Given the description of an element on the screen output the (x, y) to click on. 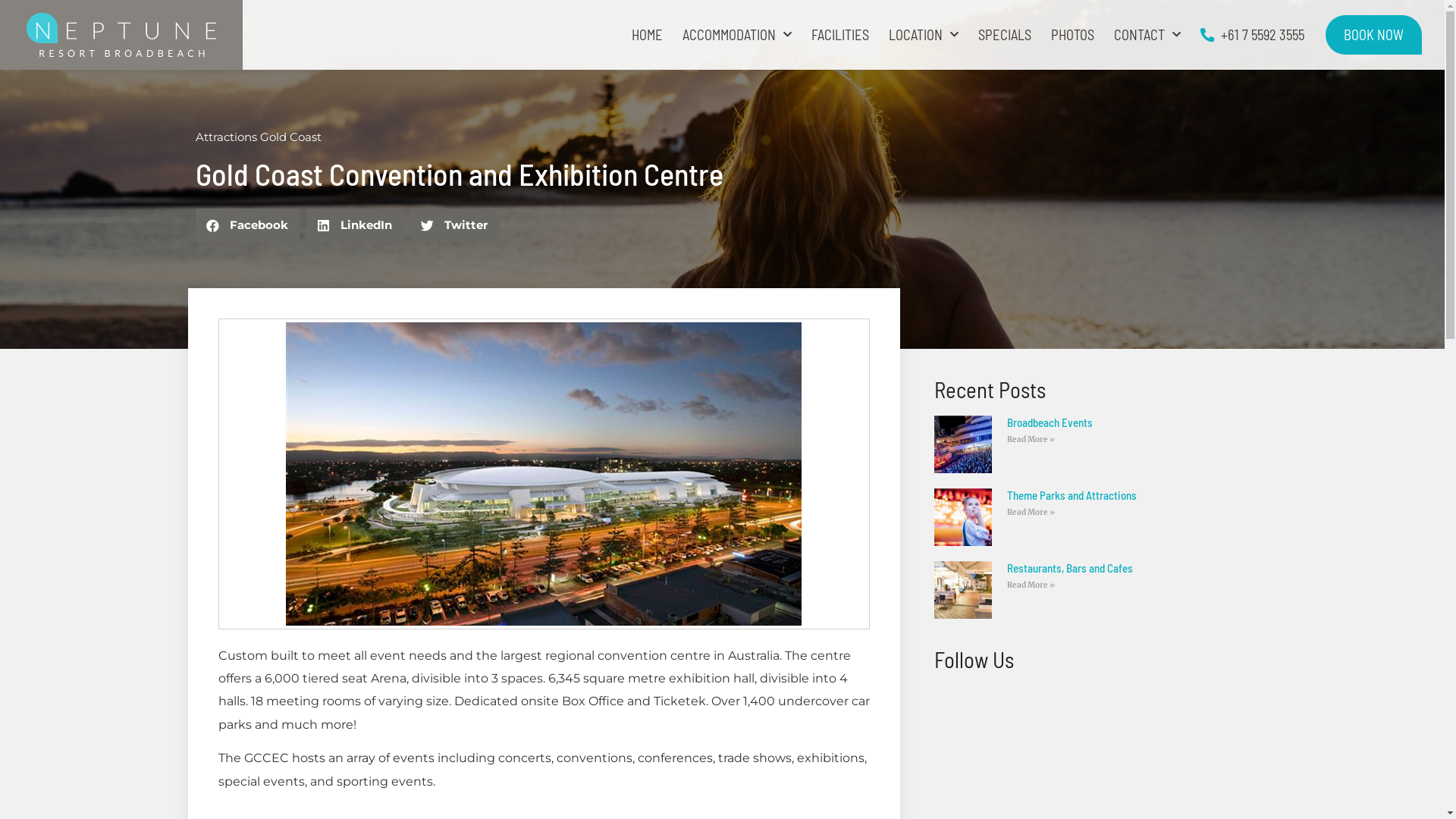
Restaurants, Bars and Cafes Element type: text (1069, 567)
FACILITIES Element type: text (839, 34)
SPECIALS Element type: text (1004, 34)
PHOTOS Element type: text (1072, 34)
CONTACT Element type: text (1147, 34)
Theme Parks and Attractions Element type: text (1071, 495)
BOOK NOW Element type: text (1373, 34)
LOCATION Element type: text (923, 34)
HOME Element type: text (646, 34)
ACCOMMODATION Element type: text (736, 34)
Broadbeach Events Element type: text (1049, 422)
+61 7 5592 3555 Element type: text (1252, 34)
Attractions Gold Coast Element type: text (258, 136)
